Given the description of an element on the screen output the (x, y) to click on. 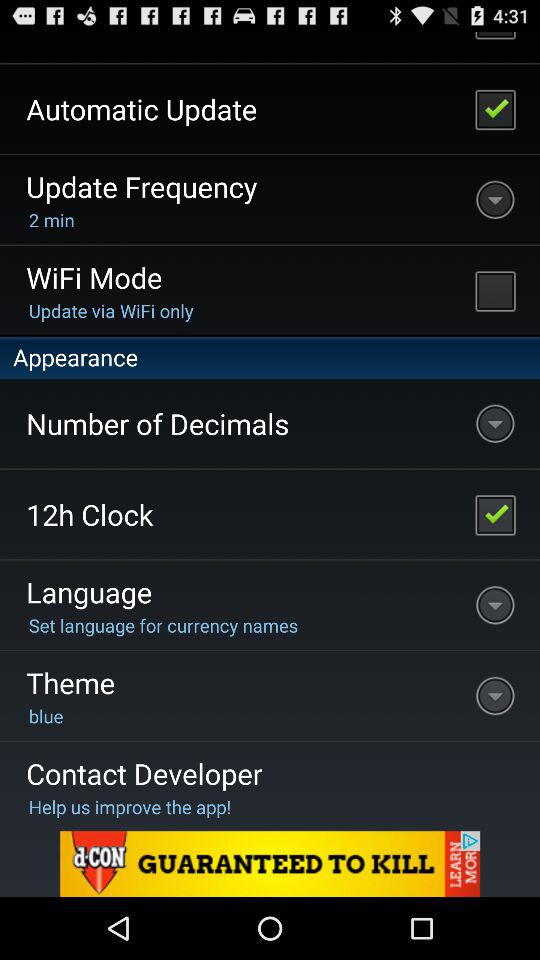
toggle 12 hour clock (495, 514)
